Given the description of an element on the screen output the (x, y) to click on. 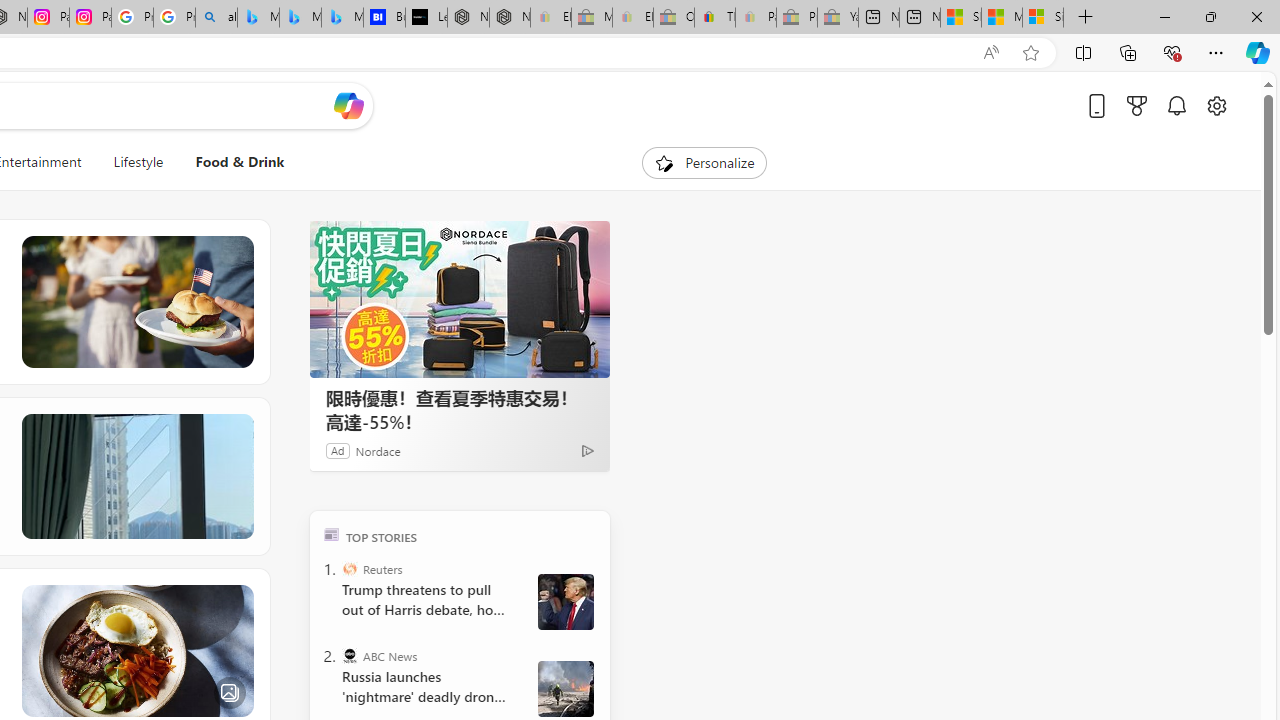
Food & Drink (232, 162)
Ad Choice (587, 449)
Sign in to your Microsoft account (1042, 17)
Nordace (377, 450)
Press Room - eBay Inc. - Sleeping (796, 17)
Lifestyle (138, 162)
Reuters (349, 568)
